Given the description of an element on the screen output the (x, y) to click on. 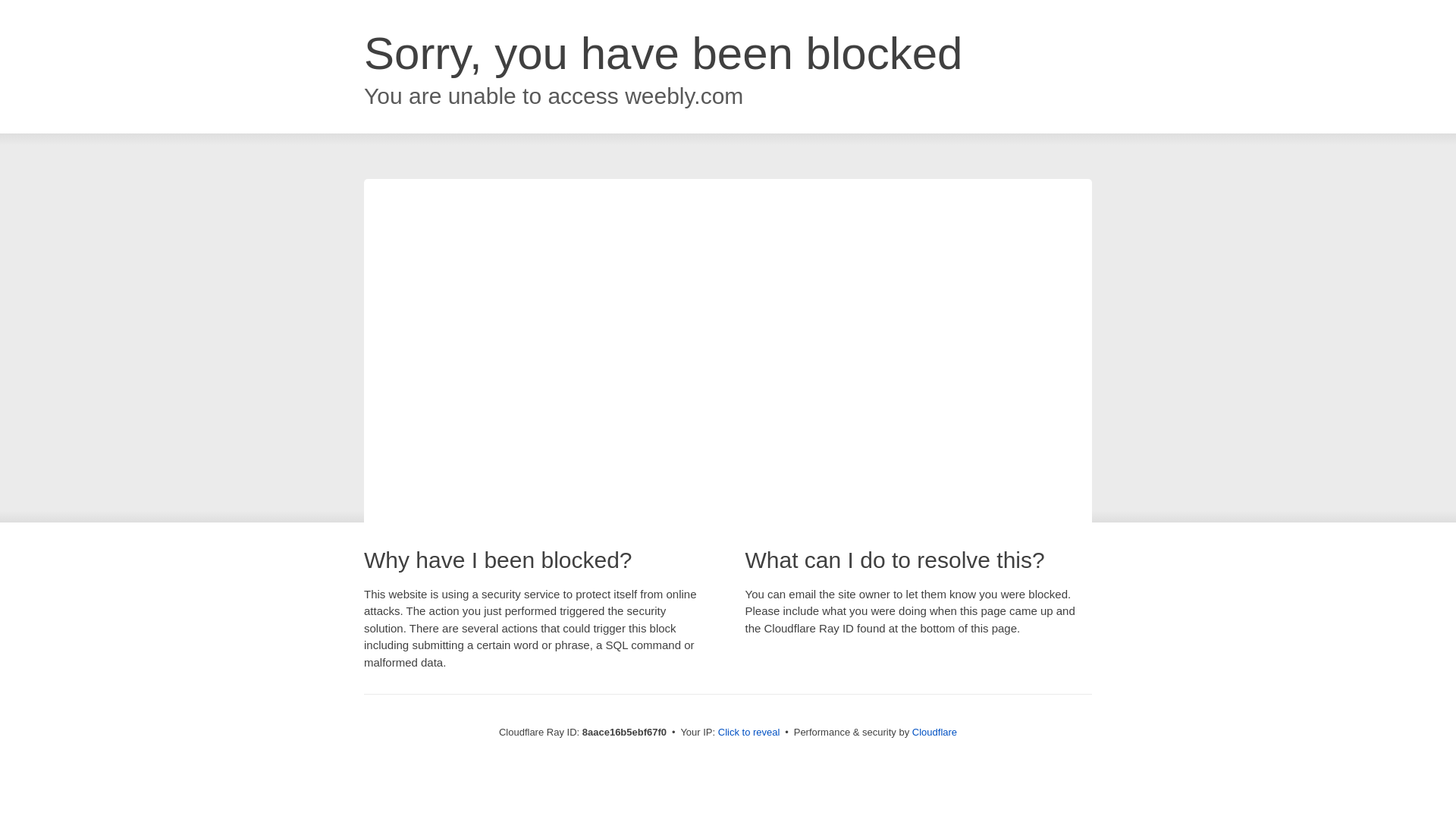
Cloudflare (934, 731)
Click to reveal (748, 732)
